Given the description of an element on the screen output the (x, y) to click on. 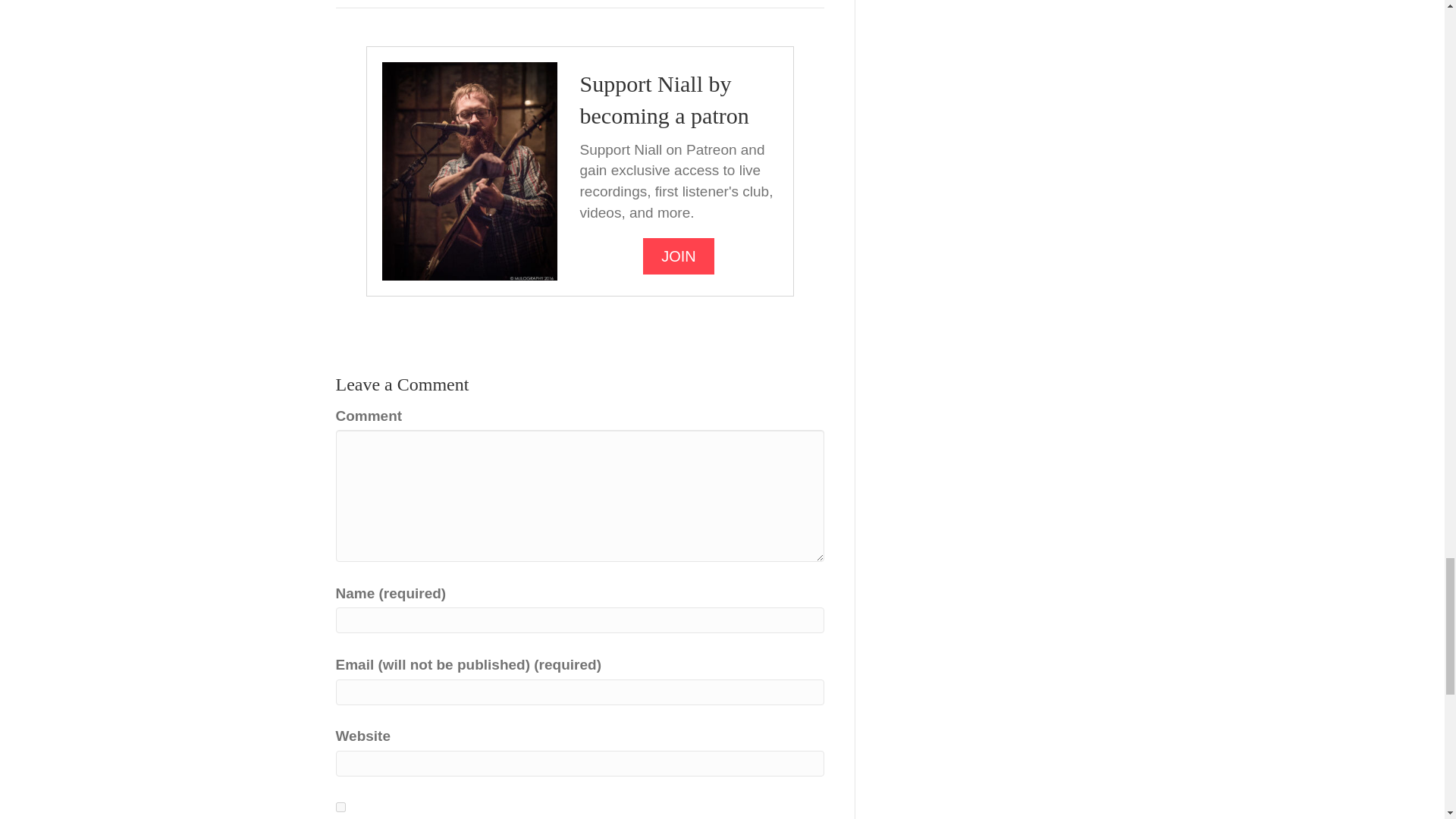
Support Niall by becoming a patron (663, 99)
JOIN (678, 256)
yes (339, 807)
